Given the description of an element on the screen output the (x, y) to click on. 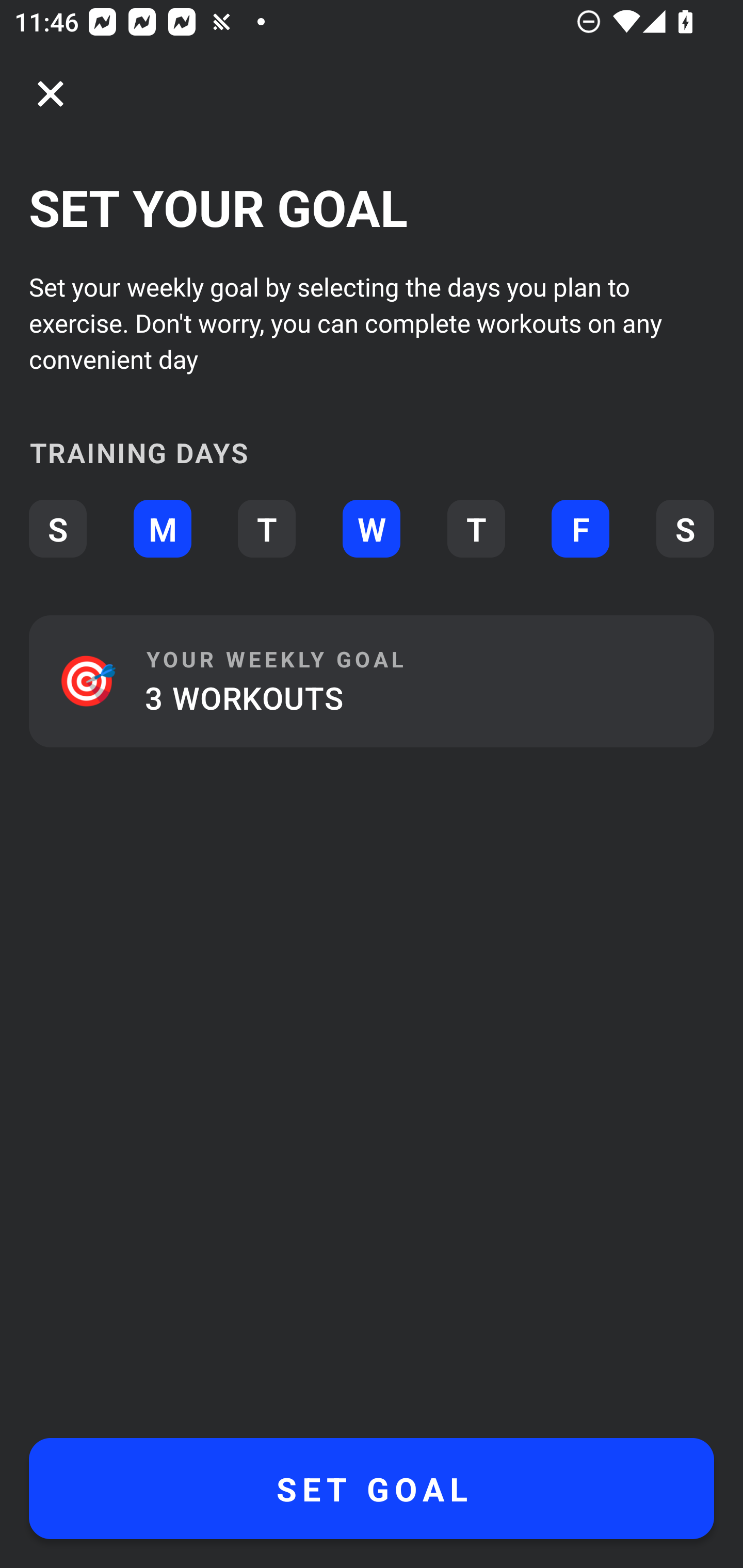
Back Icon (50, 93)
S (57, 529)
M (161, 529)
T (266, 529)
W (371, 529)
T (476, 529)
F (580, 529)
S (684, 529)
SET GOAL (371, 1488)
